Given the description of an element on the screen output the (x, y) to click on. 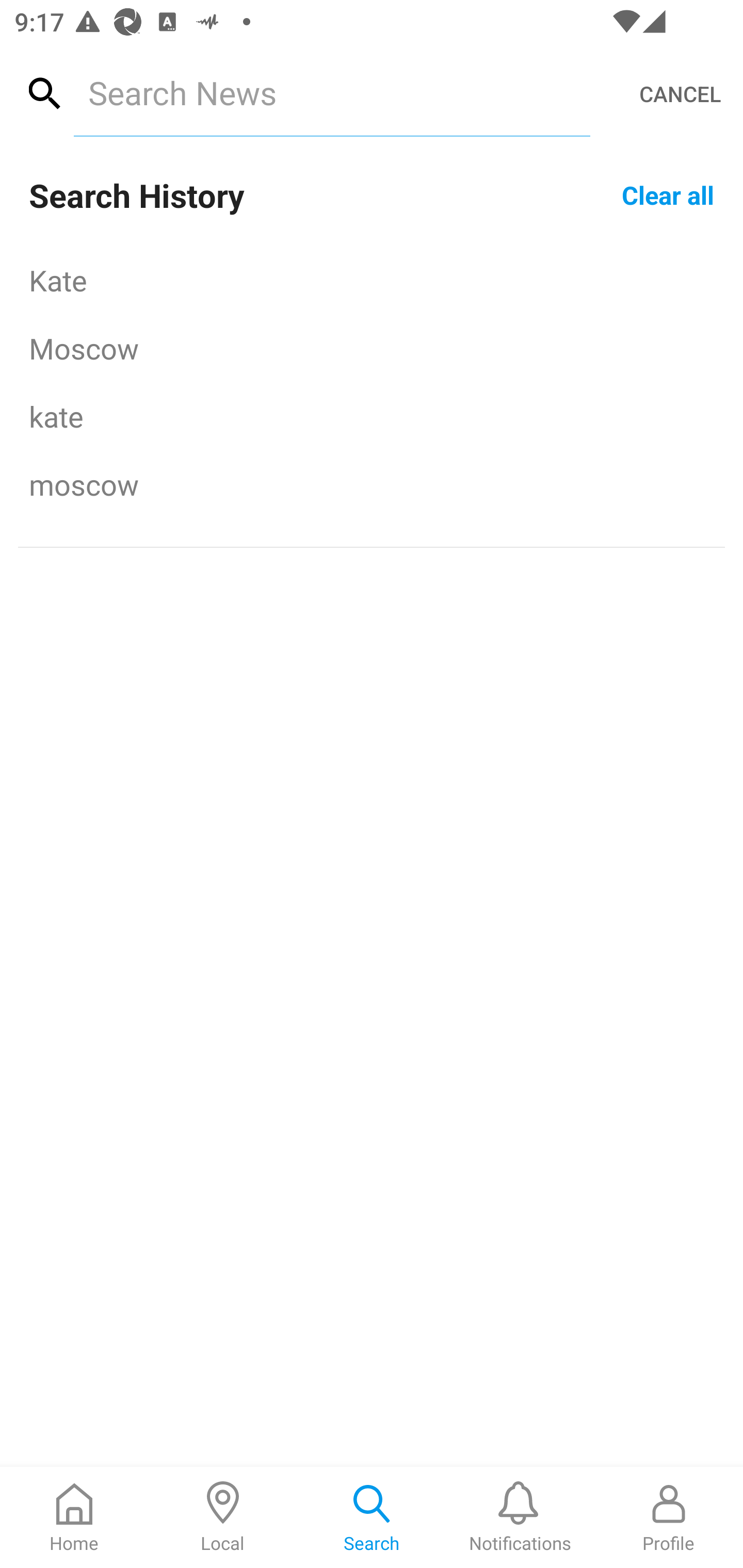
CANCEL (680, 93)
Search News (331, 92)
Clear all (667, 194)
Kate (371, 279)
Moscow (371, 347)
kate (371, 416)
moscow (371, 484)
Home (74, 1517)
Local (222, 1517)
Notifications (519, 1517)
Profile (668, 1517)
